Given the description of an element on the screen output the (x, y) to click on. 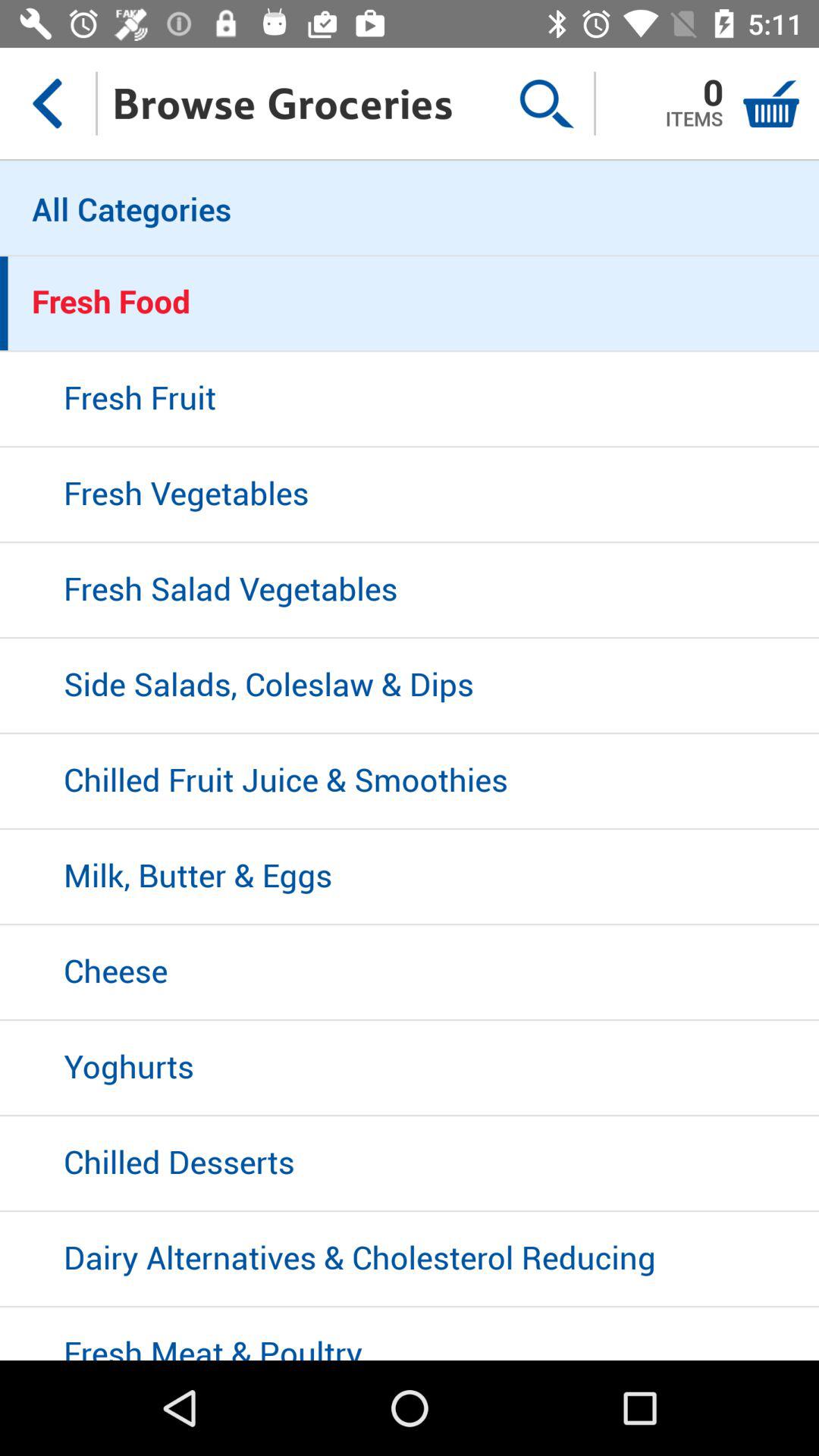
flip to fresh meat & poultry (409, 1333)
